Given the description of an element on the screen output the (x, y) to click on. 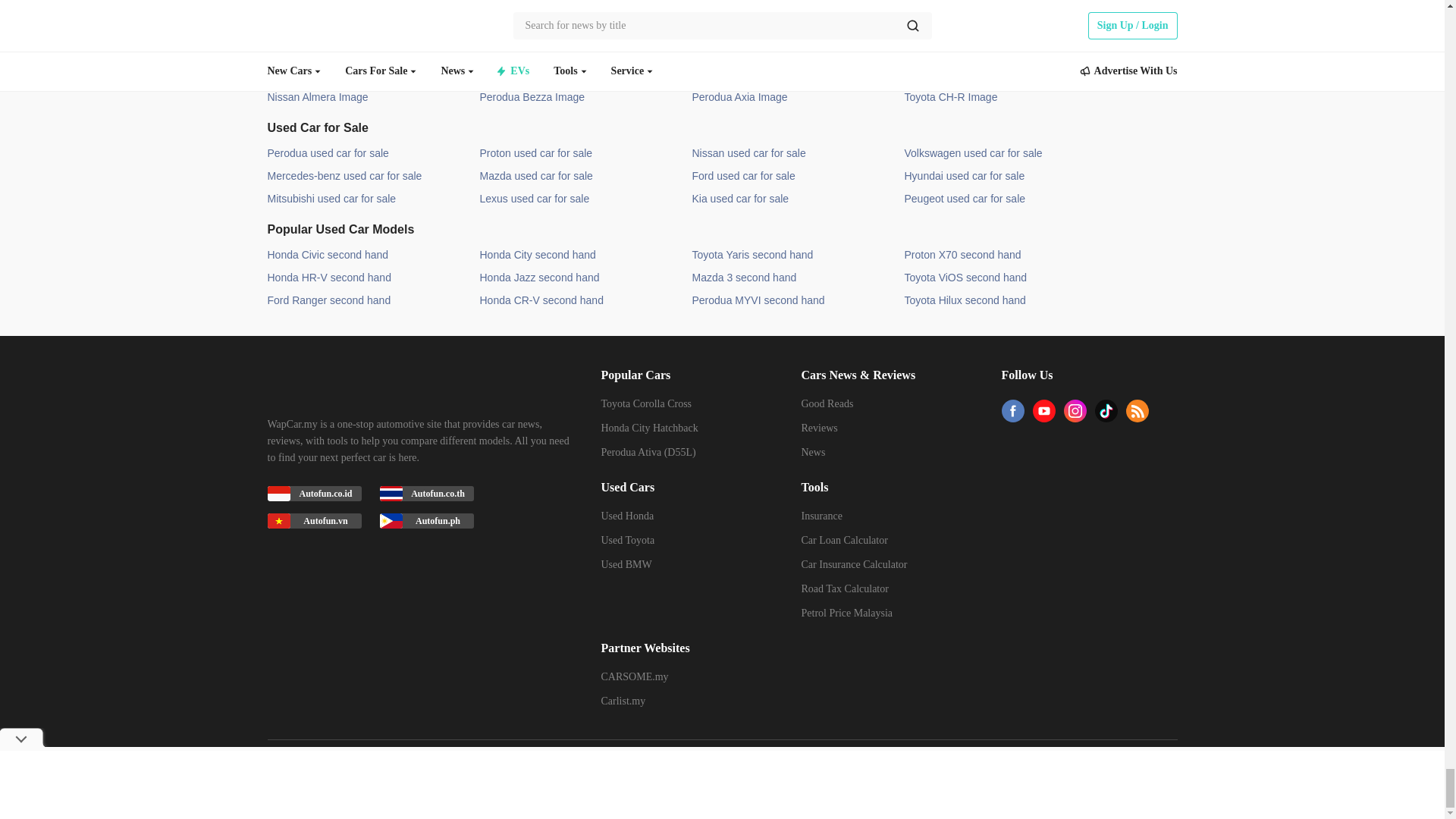
ins (1074, 416)
youtube (1043, 416)
tiktok (1106, 416)
facebook (1012, 416)
rss (1136, 416)
